Given the description of an element on the screen output the (x, y) to click on. 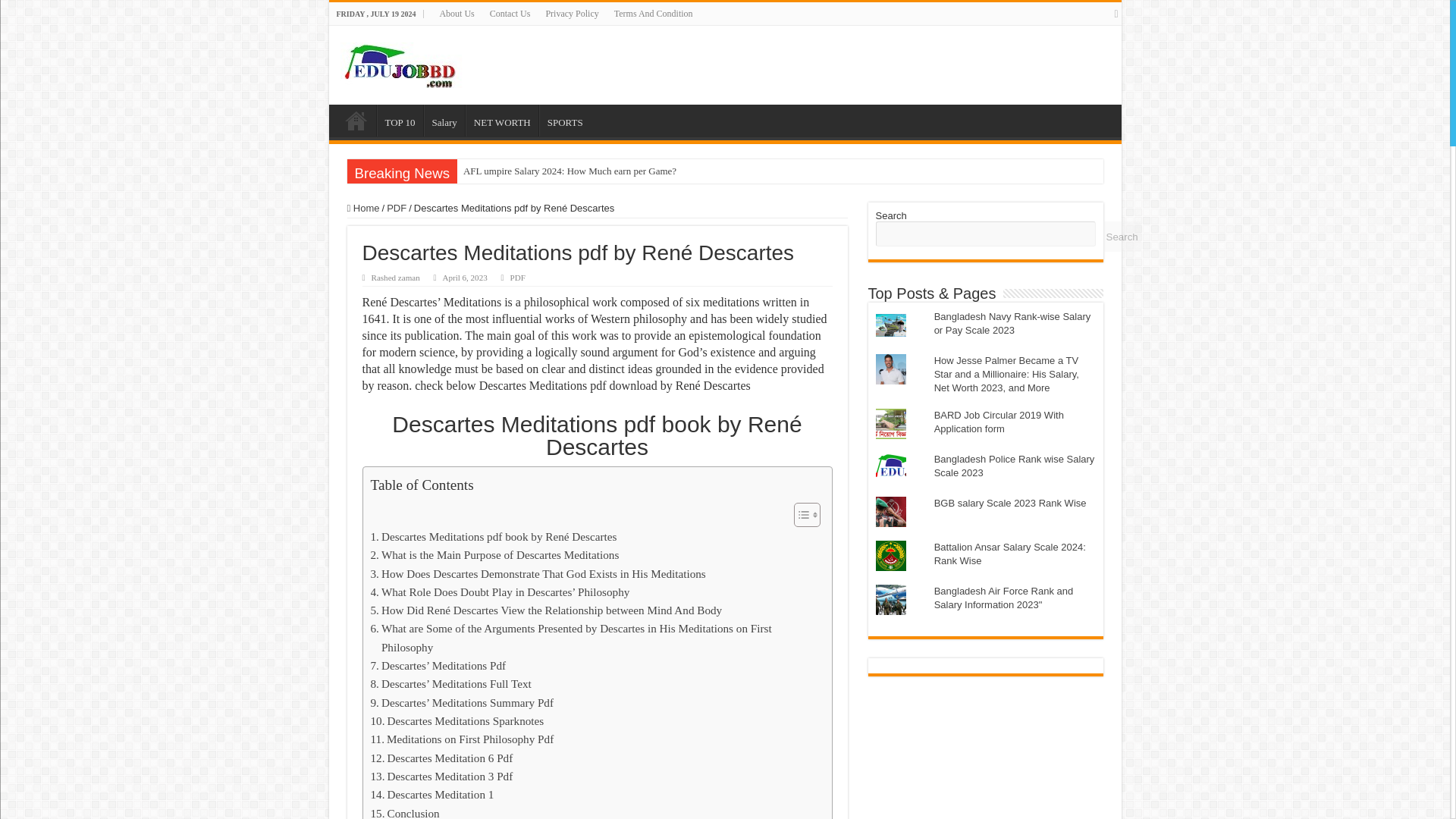
Terms And Condition (653, 13)
Meditations on First Philosophy Pdf (461, 739)
Descartes Meditation 6 Pdf (440, 758)
Home (363, 207)
NET WORTH (501, 120)
Salary (443, 120)
Privacy Policy (571, 13)
SPORTS (564, 120)
Descartes Meditation 1 (431, 794)
What is the Main Purpose of Descartes Meditations (493, 555)
PDF (518, 276)
Contact Us (509, 13)
Descartes Meditation 3 Pdf (440, 776)
Meditations on First Philosophy Pdf (461, 739)
